Given the description of an element on the screen output the (x, y) to click on. 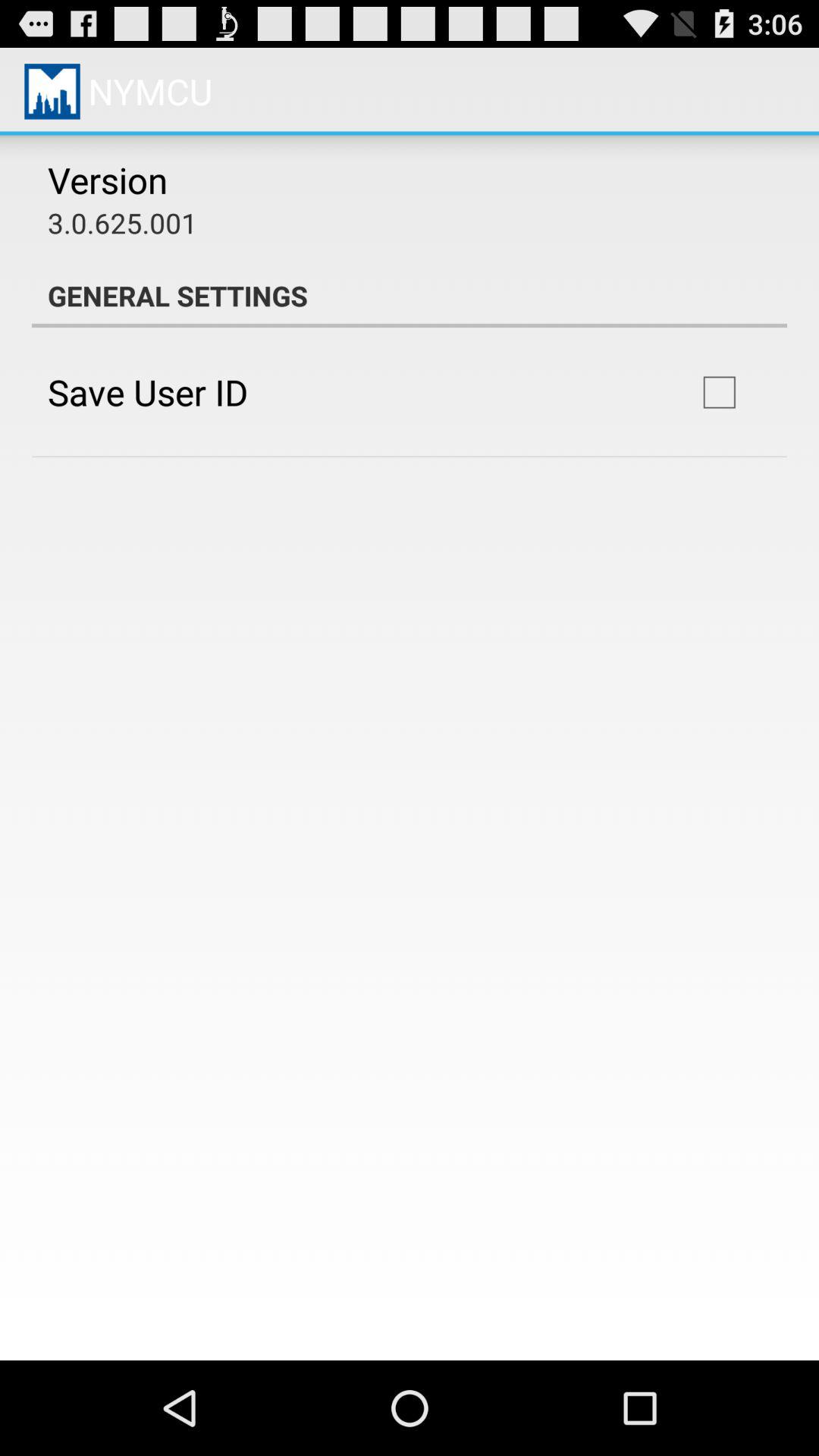
launch app to the right of the save user id item (719, 392)
